Given the description of an element on the screen output the (x, y) to click on. 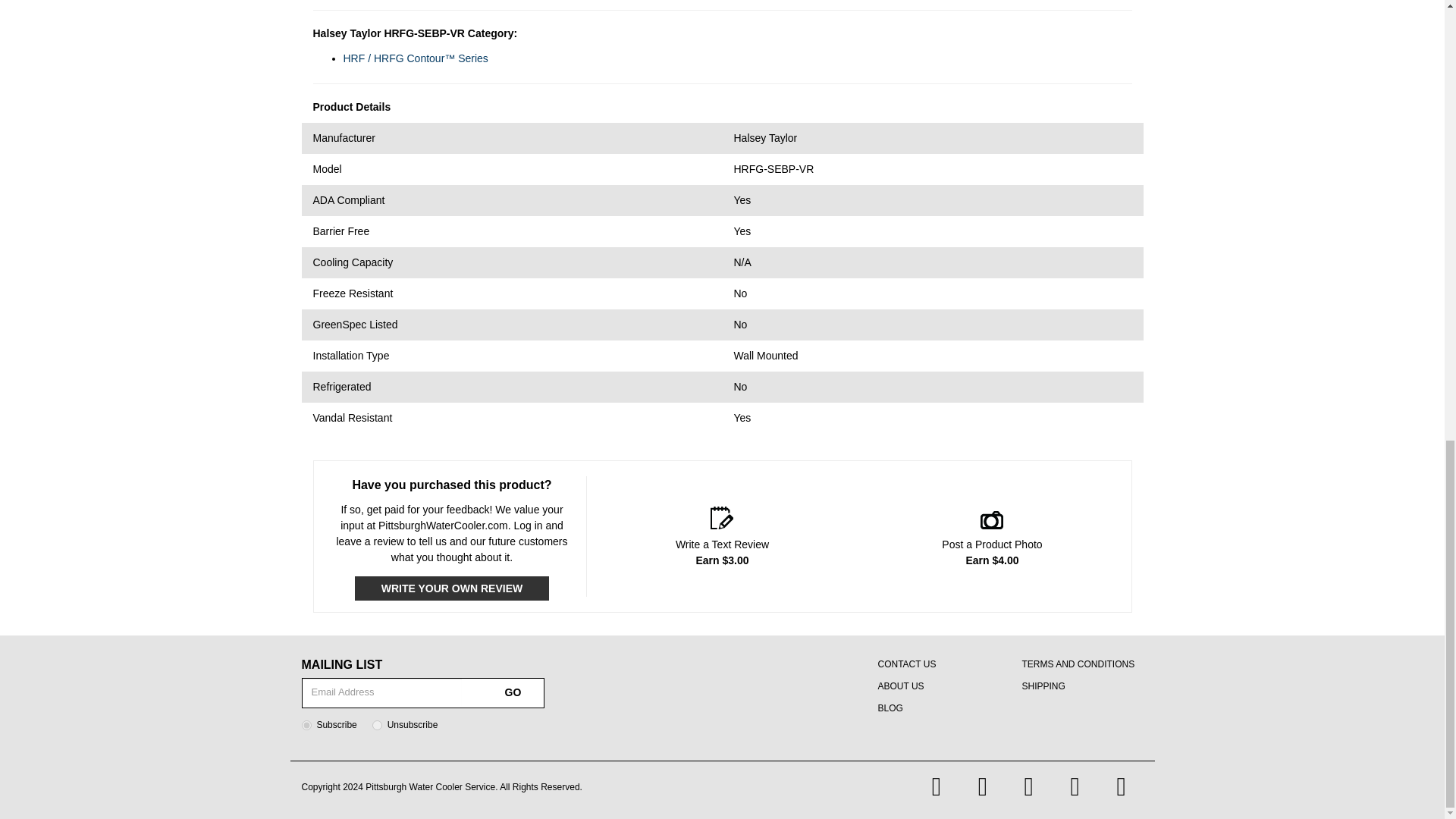
1 (306, 725)
0 (376, 725)
